Given the description of an element on the screen output the (x, y) to click on. 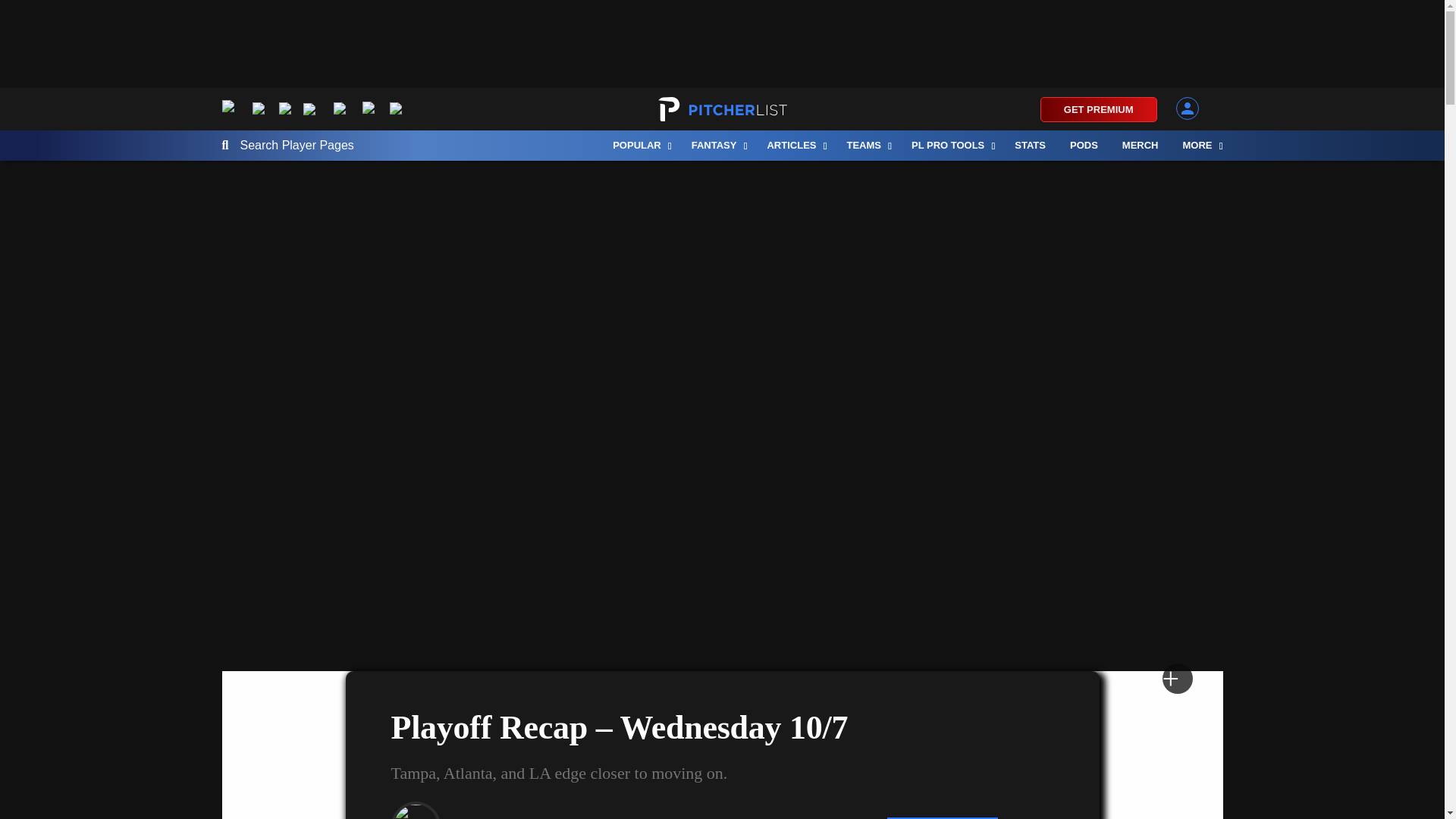
GET PREMIUM (1099, 109)
FANTASY (717, 145)
